Given the description of an element on the screen output the (x, y) to click on. 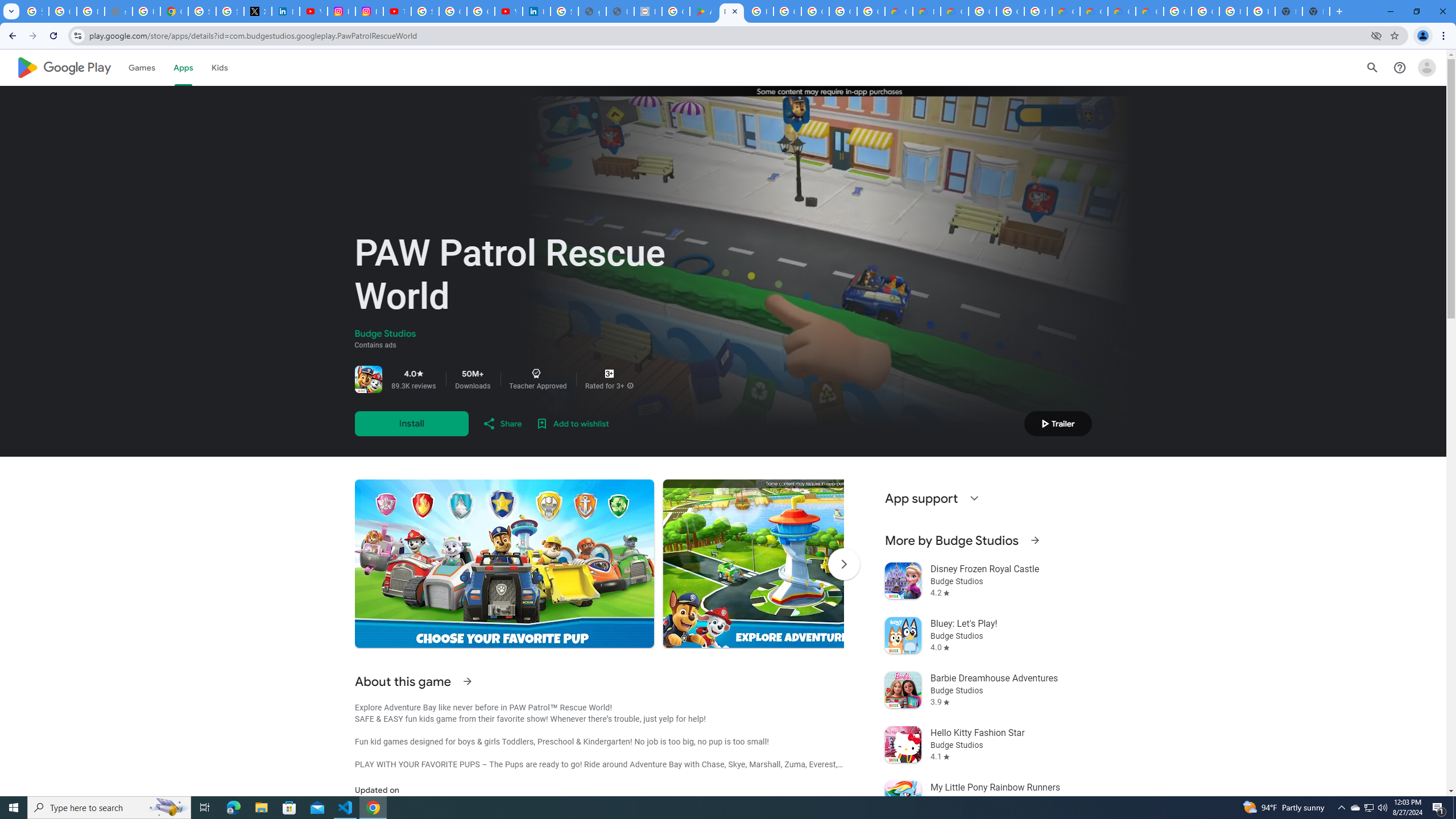
Google Cloud Platform (1205, 11)
See more information on About this game (466, 681)
Help Center (1399, 67)
X (257, 11)
Content rating (609, 373)
Data Privacy Framework (647, 11)
YouTube Content Monetization Policies - How YouTube Works (313, 11)
Google Workspace - Specific Terms (870, 11)
Games (141, 67)
